Given the description of an element on the screen output the (x, y) to click on. 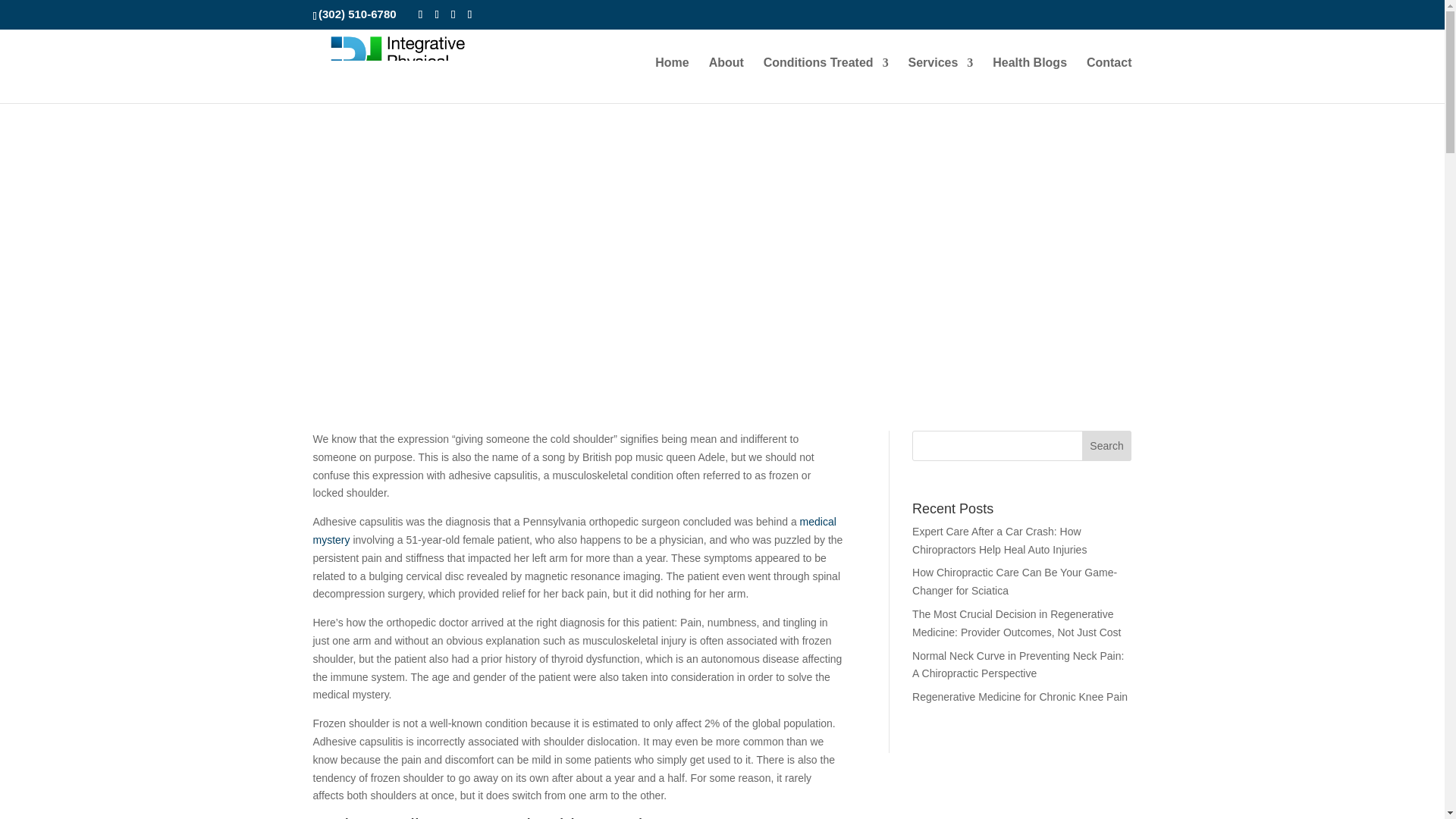
Services (941, 80)
Search (1106, 445)
Blog Post (406, 205)
Contact (1109, 80)
Health Blogs (1029, 80)
Search (1106, 445)
Home (671, 80)
Search (1106, 291)
How Chiropractic Care Can Be Your Game-Changer for Sciatica (1014, 581)
Chiropractic (463, 205)
Conditions Treated (825, 80)
About (726, 80)
Shoulder Pain (530, 205)
